Given the description of an element on the screen output the (x, y) to click on. 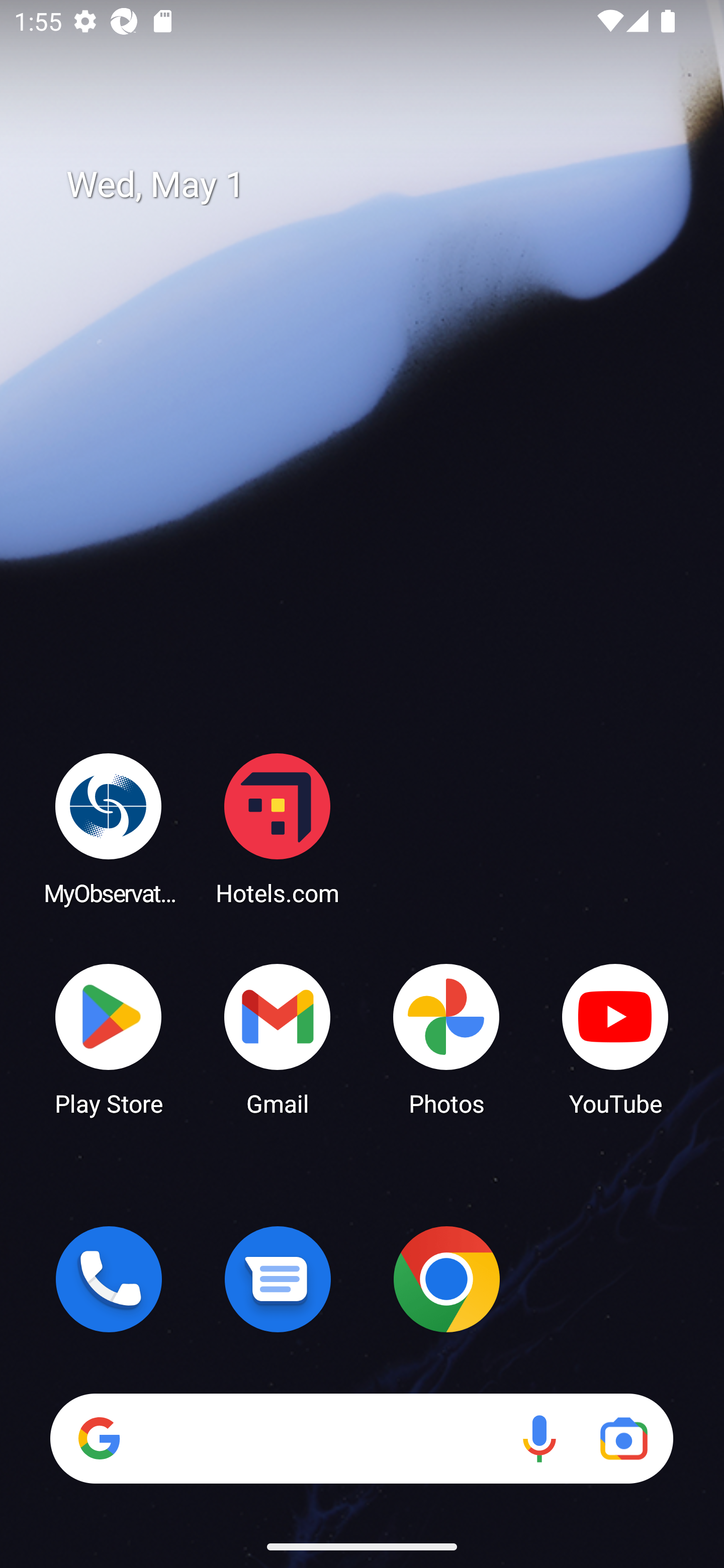
Wed, May 1 (375, 184)
MyObservatory (108, 828)
Hotels.com (277, 828)
Play Store (108, 1038)
Gmail (277, 1038)
Photos (445, 1038)
YouTube (615, 1038)
Phone (108, 1279)
Messages (277, 1279)
Chrome (446, 1279)
Search Voice search Google Lens (361, 1438)
Voice search (539, 1438)
Google Lens (623, 1438)
